Given the description of an element on the screen output the (x, y) to click on. 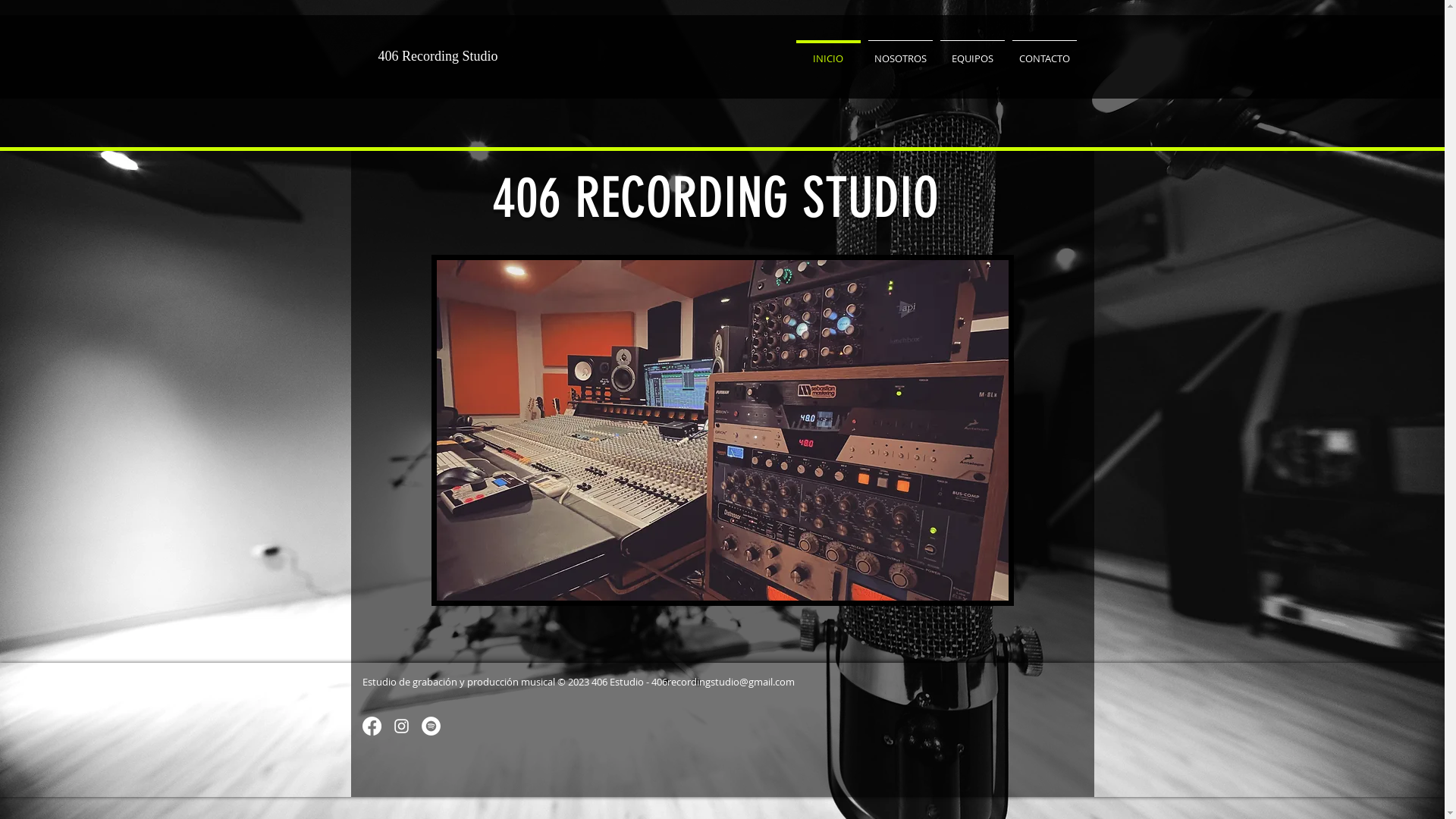
CONTACTO Element type: text (1044, 51)
EQUIPOS Element type: text (971, 51)
INICIO Element type: text (827, 51)
406 Recording Studio Element type: text (437, 55)
NOSOTROS Element type: text (900, 51)
406recordingstudio@gmail.com Element type: text (721, 681)
